Given the description of an element on the screen output the (x, y) to click on. 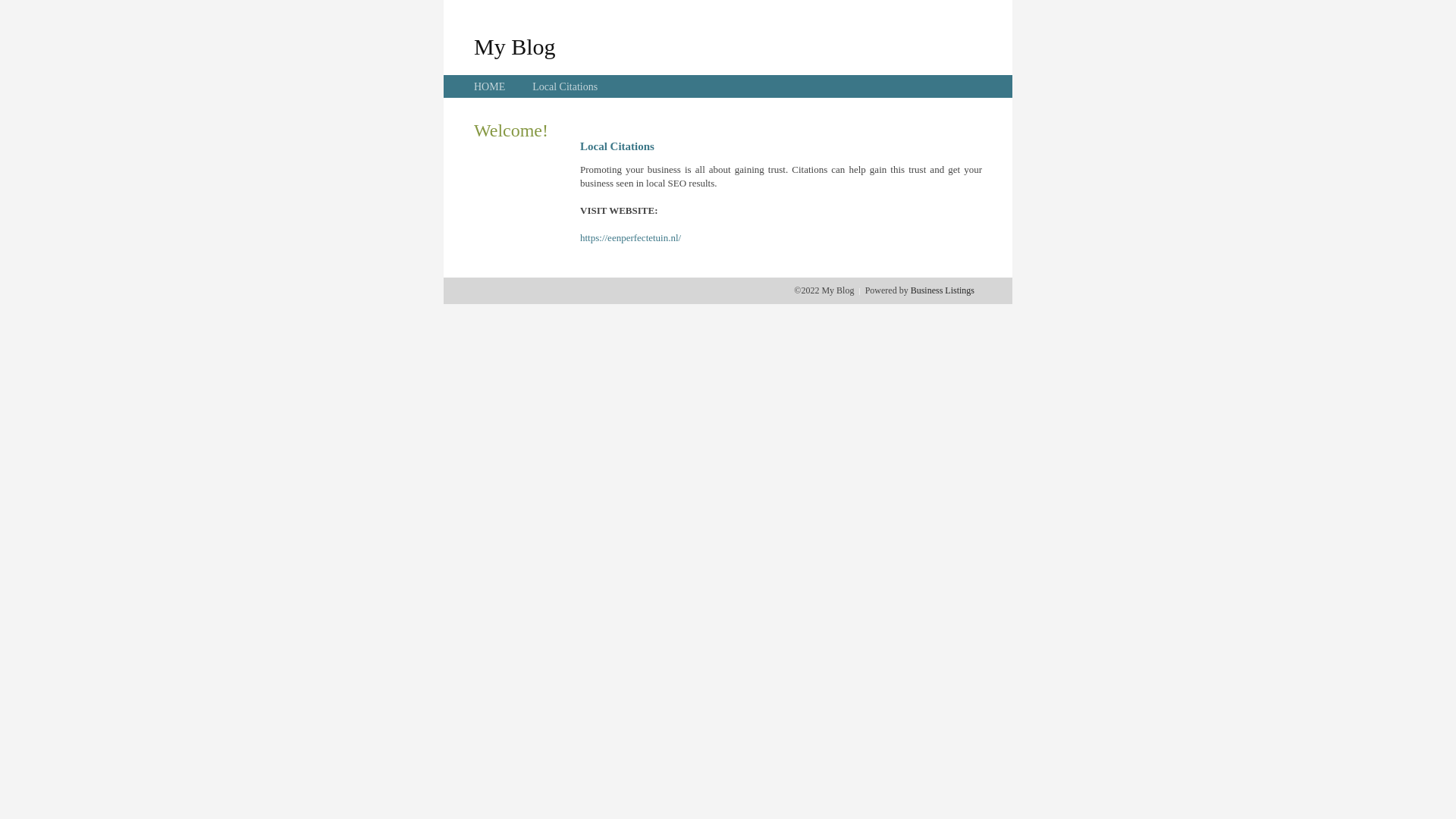
HOME Element type: text (489, 86)
Business Listings Element type: text (942, 290)
https://eenperfectetuin.nl/ Element type: text (630, 237)
Local Citations Element type: text (564, 86)
My Blog Element type: text (514, 46)
